Given the description of an element on the screen output the (x, y) to click on. 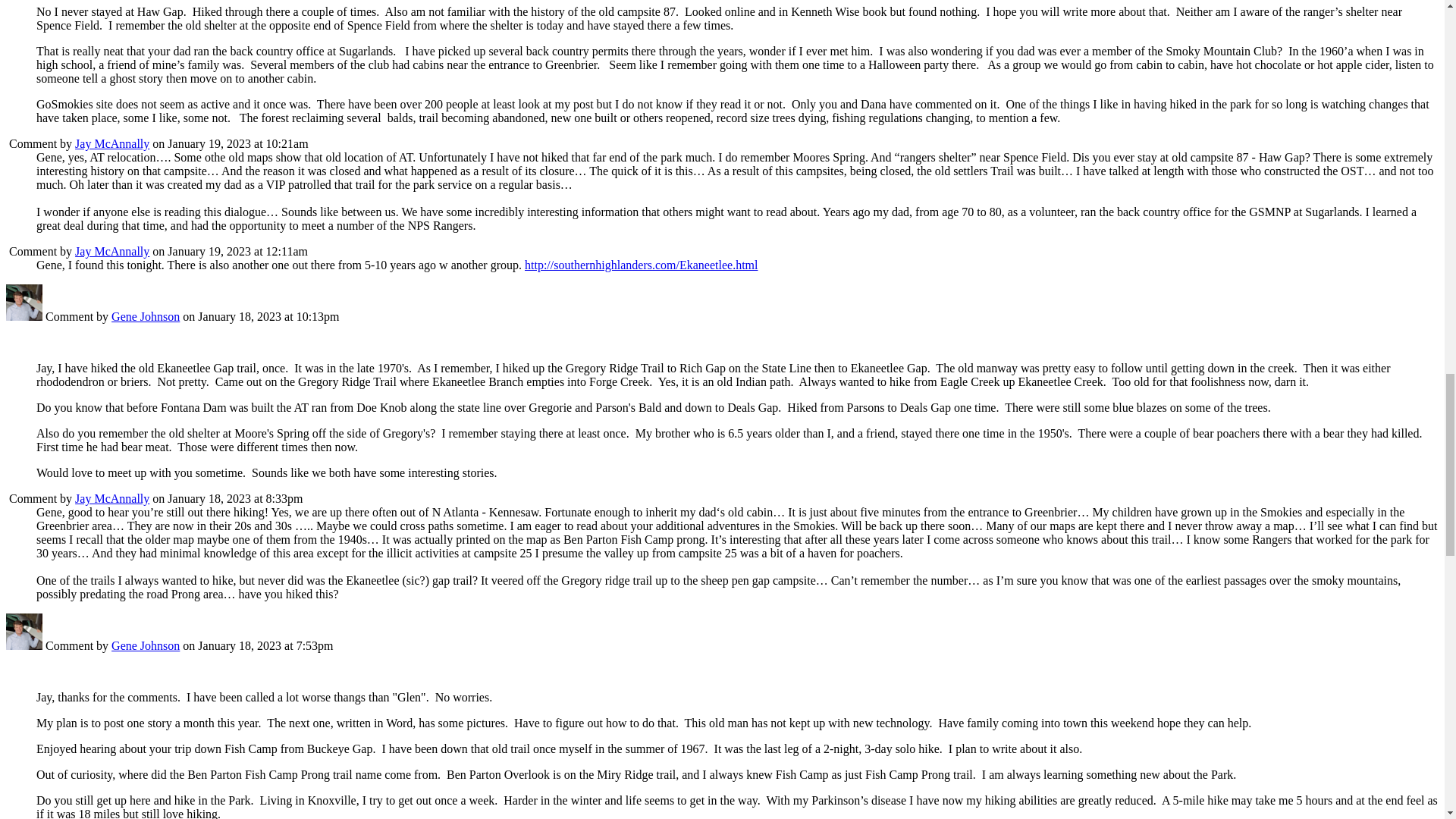
Gene Johnson (23, 316)
Jay McAnnally (112, 143)
Gene Johnson (23, 645)
